Given the description of an element on the screen output the (x, y) to click on. 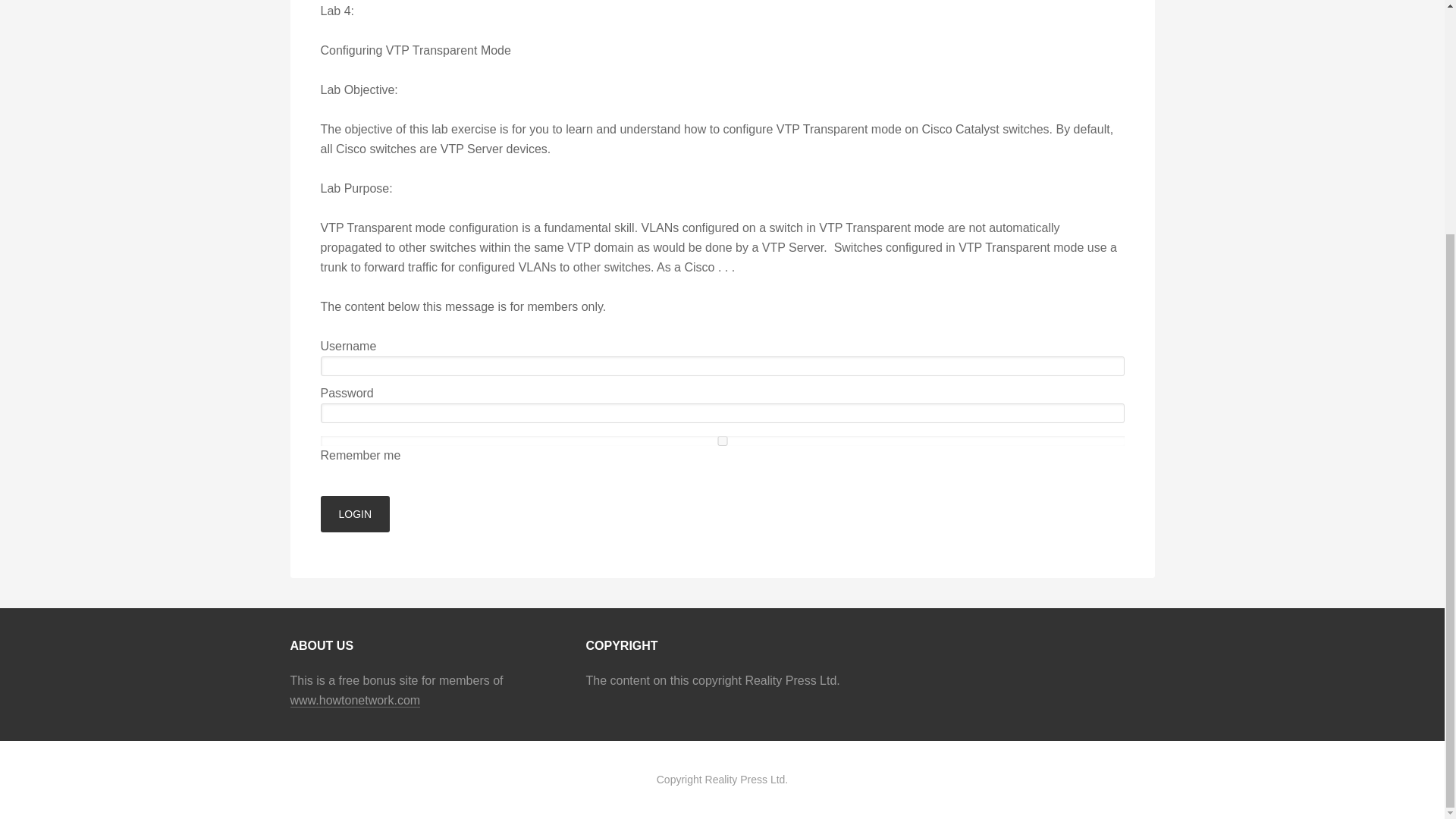
Login (355, 514)
Login (355, 514)
1 (722, 440)
www.howtonetwork.com (354, 700)
